Given the description of an element on the screen output the (x, y) to click on. 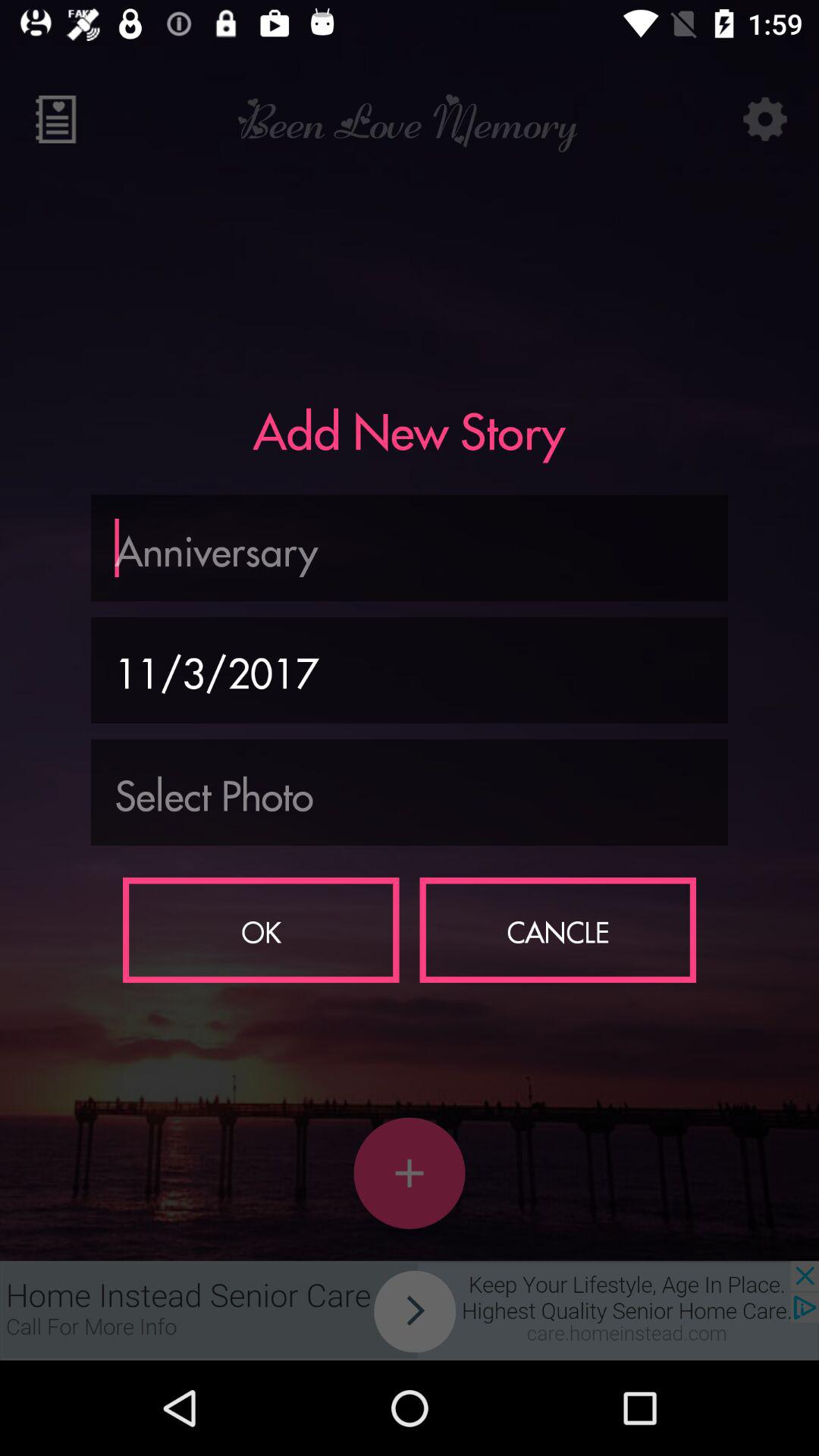
click icon next to cancle (260, 929)
